Given the description of an element on the screen output the (x, y) to click on. 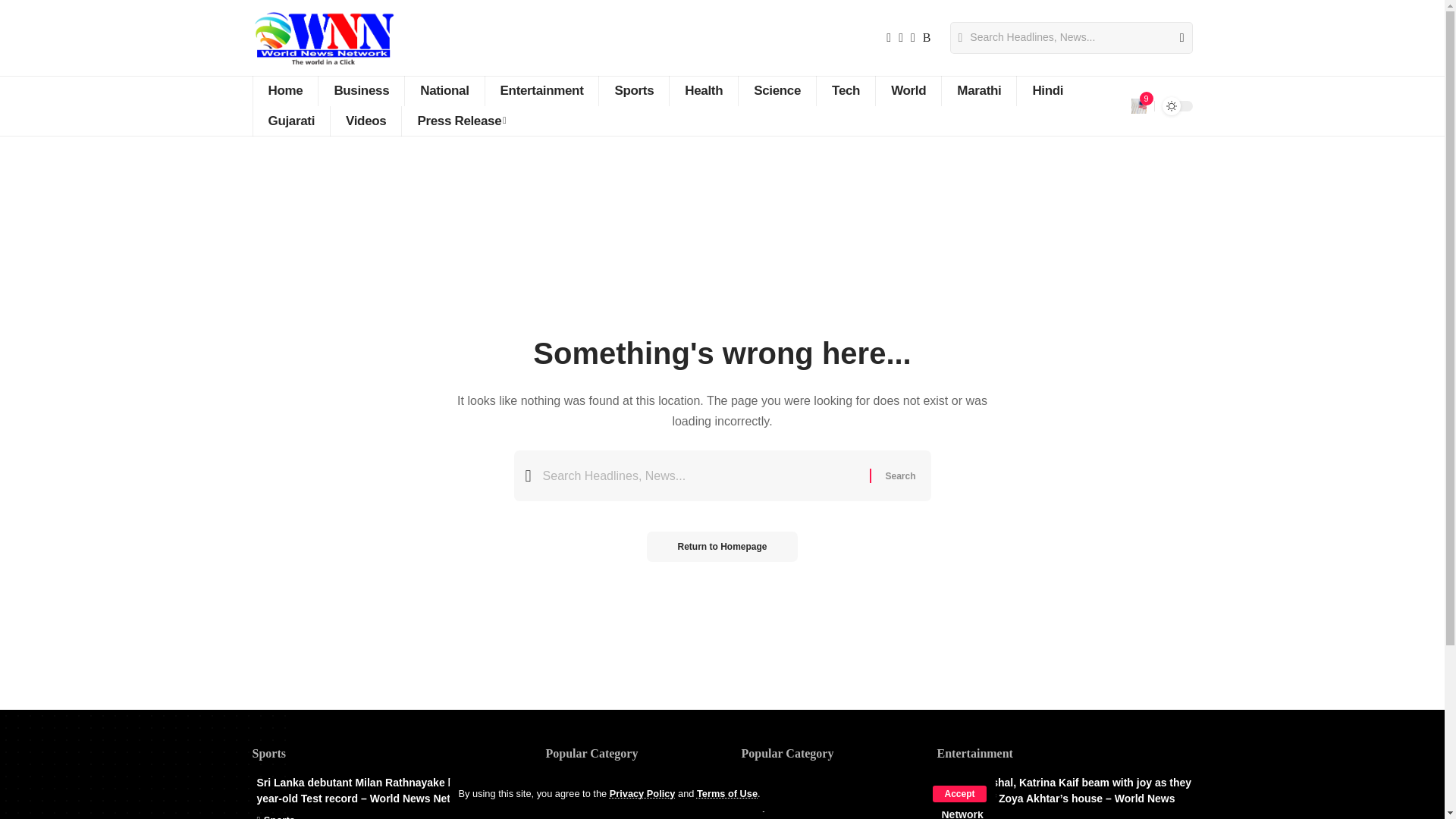
9 (1139, 105)
Privacy Policy (642, 793)
World (907, 91)
Gujarati (290, 121)
Science (776, 91)
Search (1175, 37)
Press Release (461, 121)
Business (360, 91)
Latest World News Update (322, 37)
Health (703, 91)
